Given the description of an element on the screen output the (x, y) to click on. 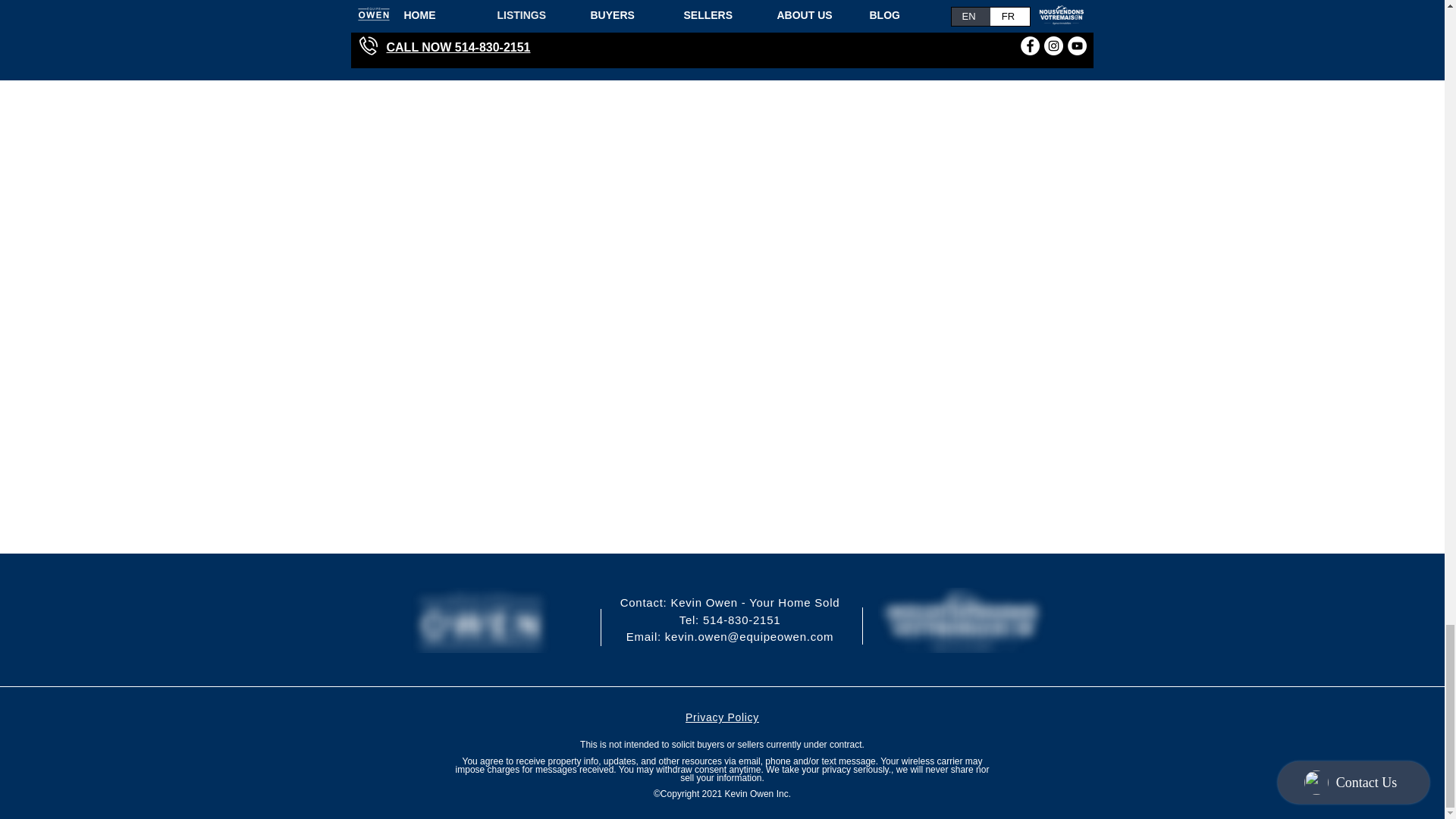
Privacy Policy (721, 717)
514-830-2151 (741, 619)
